Given the description of an element on the screen output the (x, y) to click on. 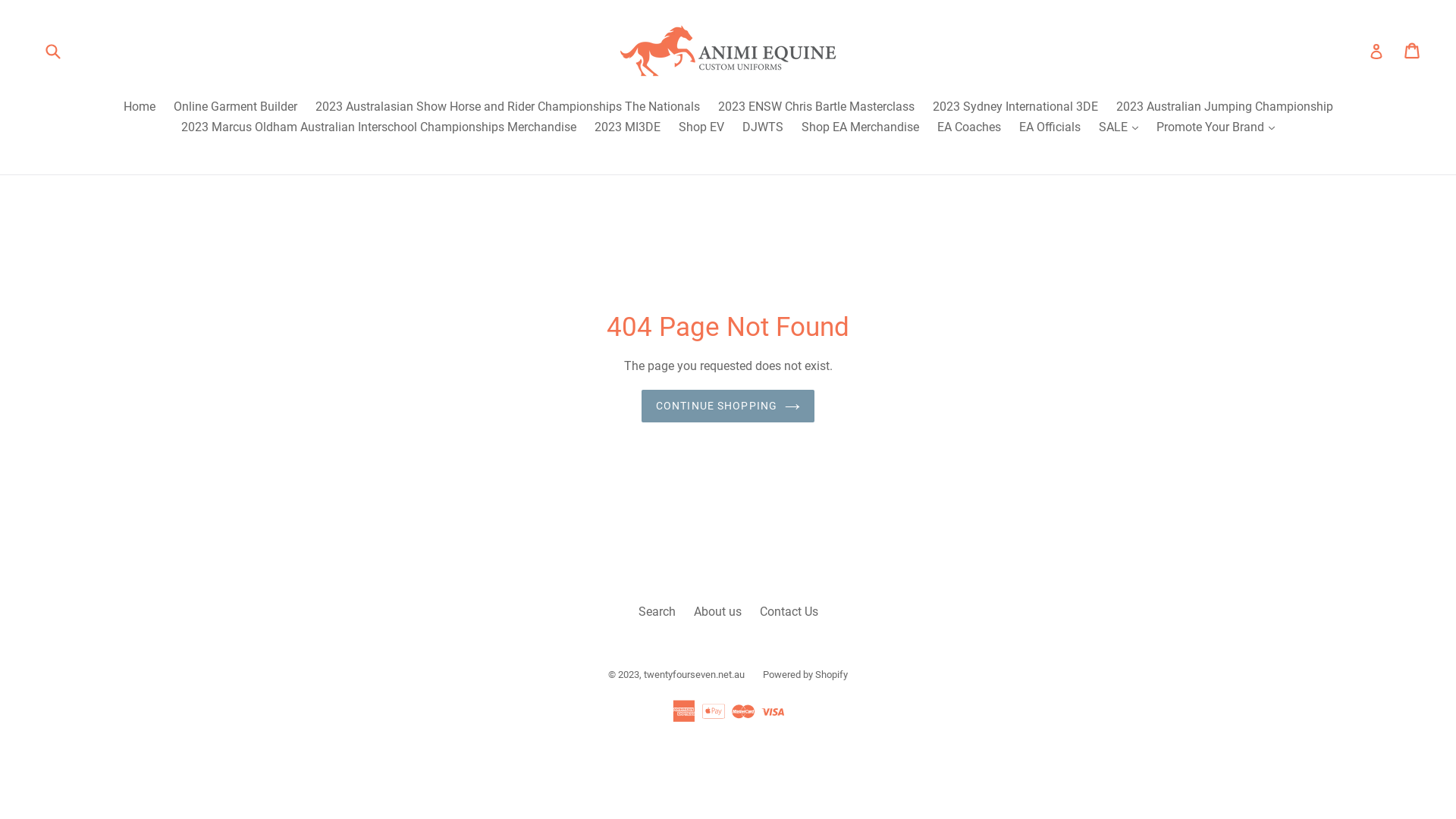
DJWTS Element type: text (762, 128)
Contact Us Element type: text (788, 611)
Shop EA Merchandise Element type: text (859, 128)
Search Element type: text (656, 611)
CONTINUE SHOPPING Element type: text (727, 405)
EA Officials Element type: text (1049, 128)
Online Garment Builder Element type: text (234, 107)
Submit Element type: text (51, 49)
Log in Element type: text (1375, 50)
About us Element type: text (716, 611)
Powered by Shopify Element type: text (804, 674)
2023 Australian Jumping Championship Element type: text (1224, 107)
2023 MI3DE Element type: text (627, 128)
2023 Sydney International 3DE Element type: text (1015, 107)
twentyfourseven.net.au Element type: text (693, 674)
Home Element type: text (138, 107)
EA Coaches Element type: text (968, 128)
2023 ENSW Chris Bartle Masterclass Element type: text (815, 107)
Cart
Cart Element type: text (1412, 50)
Shop EV Element type: text (701, 128)
